Given the description of an element on the screen output the (x, y) to click on. 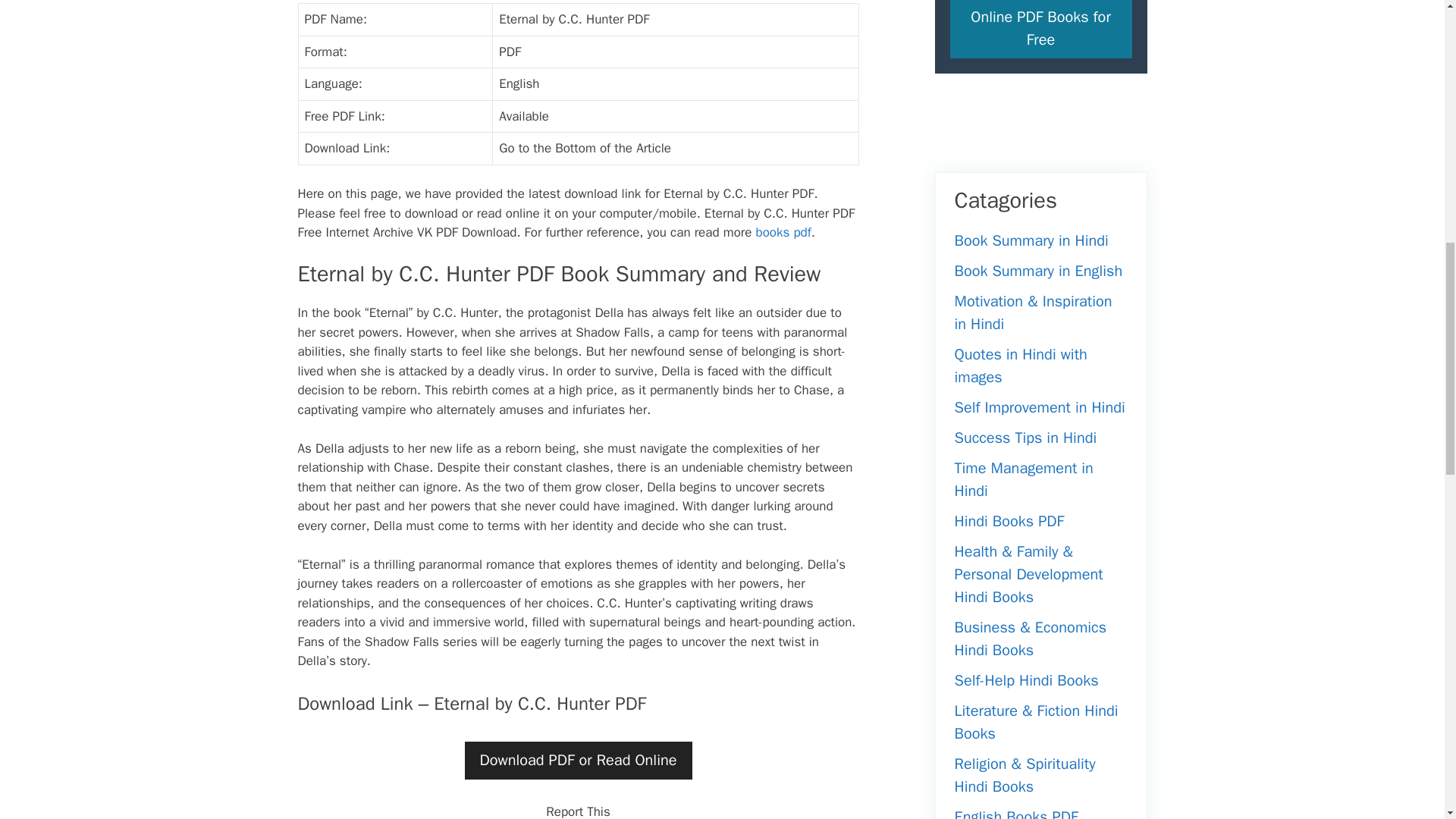
Online PDF Books for Free (1040, 29)
Book Summary in Hindi (1030, 240)
Download PDF or Read Online (577, 760)
books pdf (782, 232)
